Given the description of an element on the screen output the (x, y) to click on. 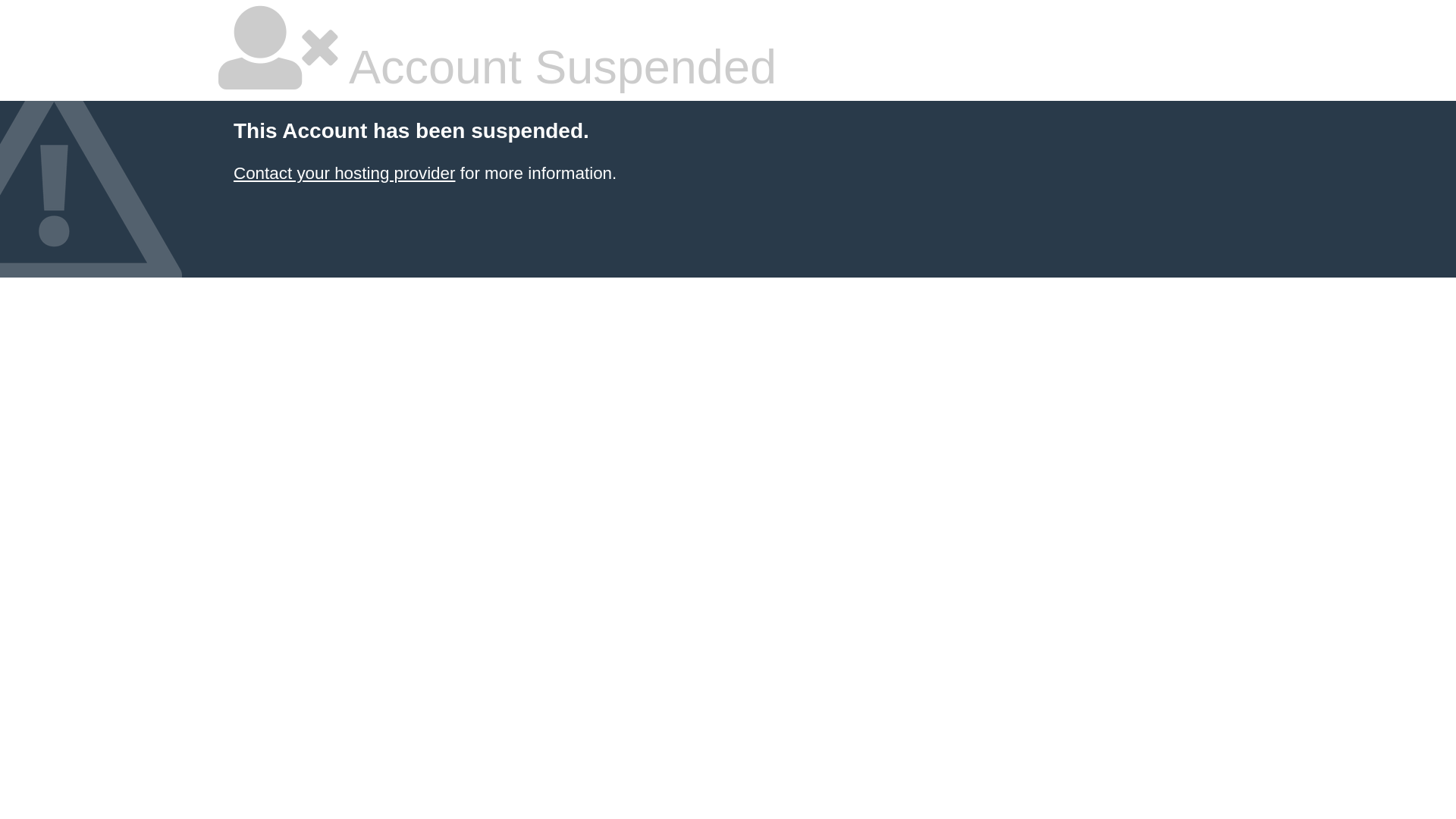
Contact your hosting provider Element type: text (344, 172)
